Given the description of an element on the screen output the (x, y) to click on. 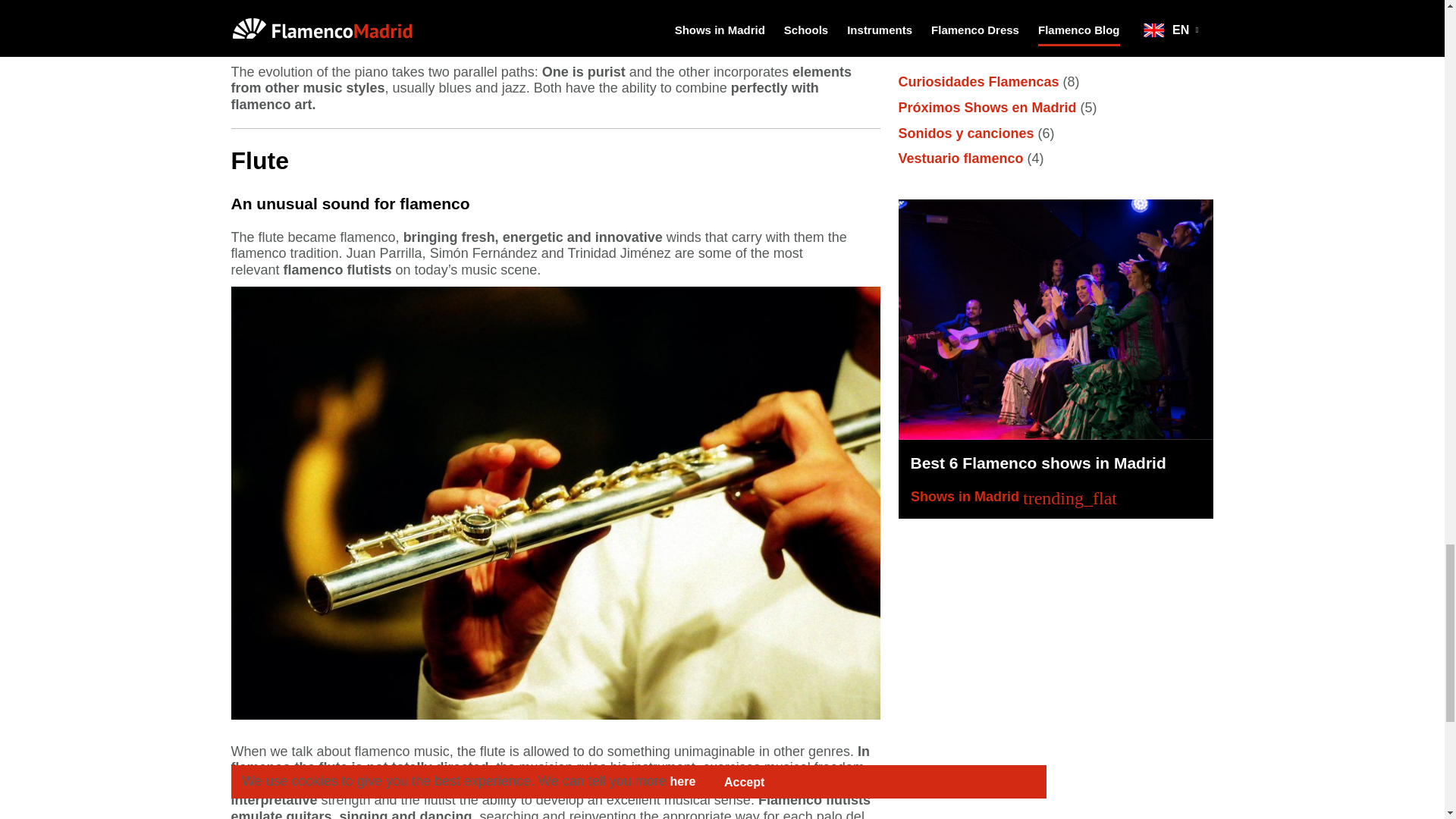
el-piano-en-el-flamenco (554, 20)
